Given the description of an element on the screen output the (x, y) to click on. 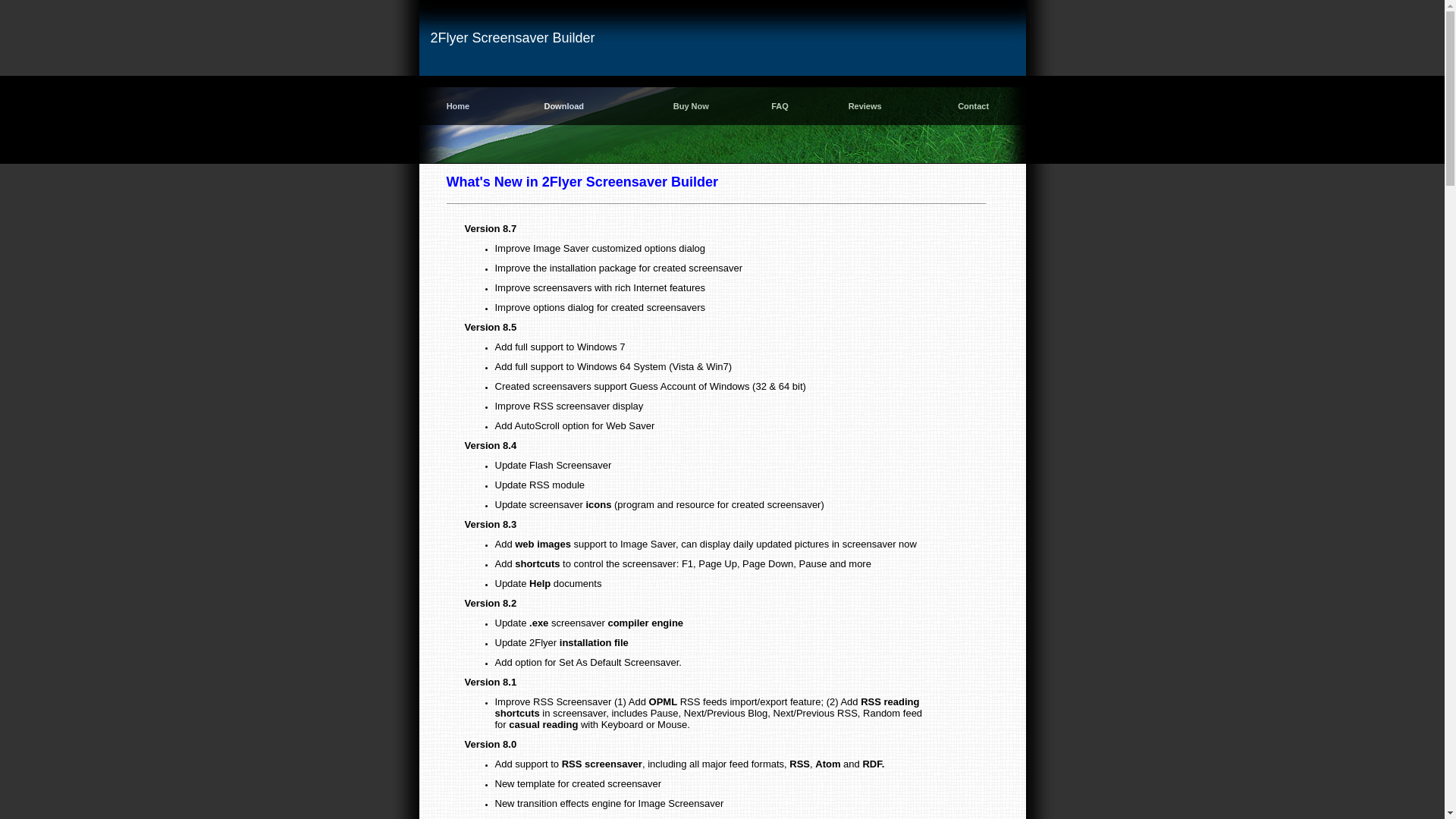
Reviews Element type: text (865, 106)
Buy Now Element type: text (690, 106)
Download Element type: text (563, 106)
Contact Element type: text (973, 106)
FAQ Element type: text (779, 106)
Home Element type: text (457, 106)
